Given the description of an element on the screen output the (x, y) to click on. 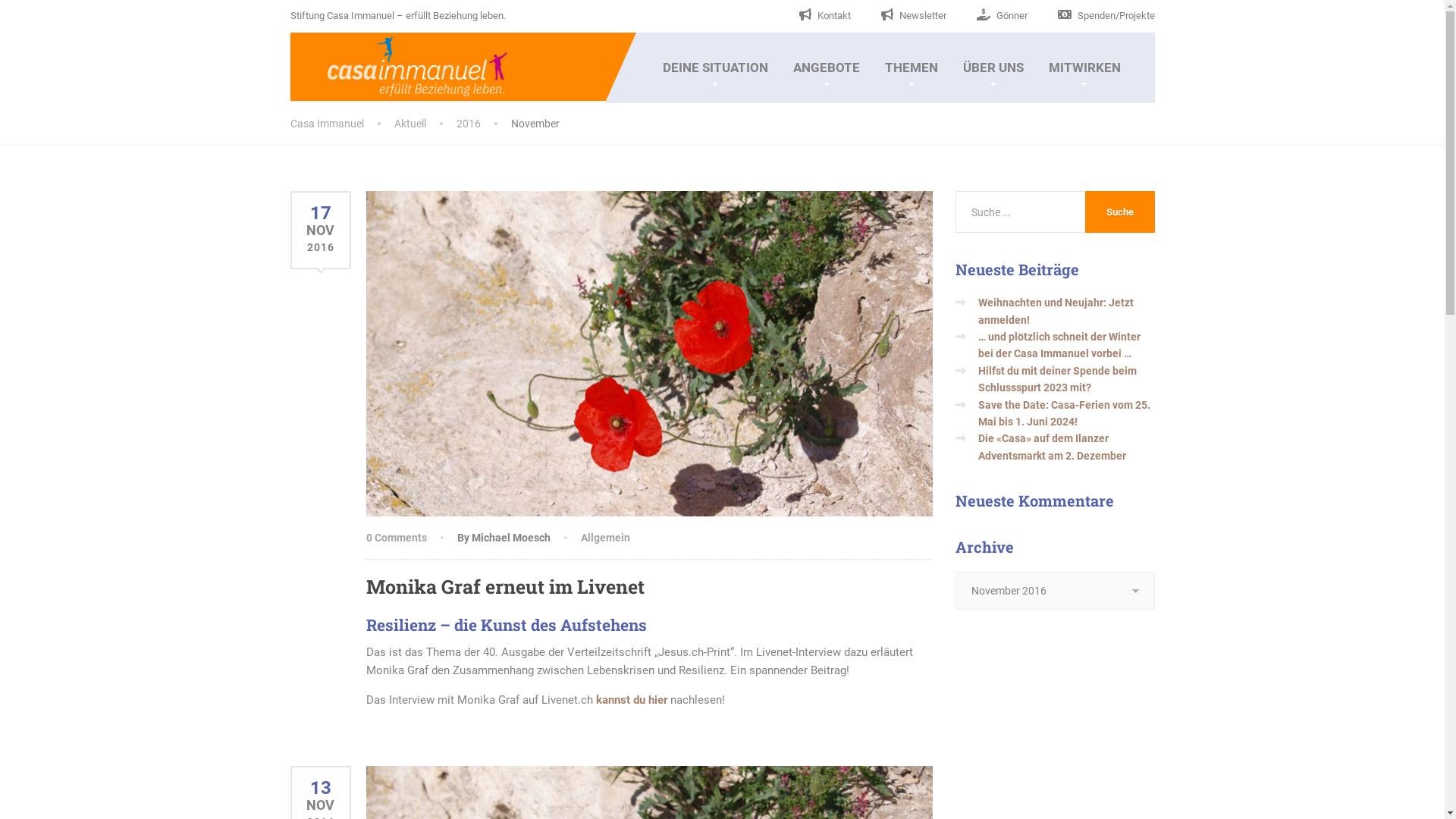
THEMEN Element type: text (911, 67)
Weihnachten und Neujahr: Jetzt anmelden! Element type: text (1055, 310)
Casa Immanuel Element type: text (341, 123)
Suche Element type: text (1119, 211)
2016 Element type: text (483, 123)
Spenden/Projekte Element type: text (1105, 15)
kannst du hier Element type: text (631, 699)
Kontakt Element type: text (824, 15)
Newsletter Element type: text (913, 15)
Hilfst du mit deiner Spende beim Schlussspurt 2023 mit? Element type: text (1057, 378)
Aktuell Element type: text (425, 123)
ANGEBOTE Element type: text (825, 67)
Monika Graf erneut im Livenet Element type: text (504, 586)
Casa Immanuel Element type: hover (398, 64)
MITWIRKEN Element type: text (1084, 67)
0 Comments Element type: text (395, 537)
Allgemein Element type: text (605, 537)
DEINE SITUATION Element type: text (714, 67)
Save the Date: Casa-Ferien vom 25. Mai bis 1. Juni 2024! Element type: text (1064, 412)
